Given the description of an element on the screen output the (x, y) to click on. 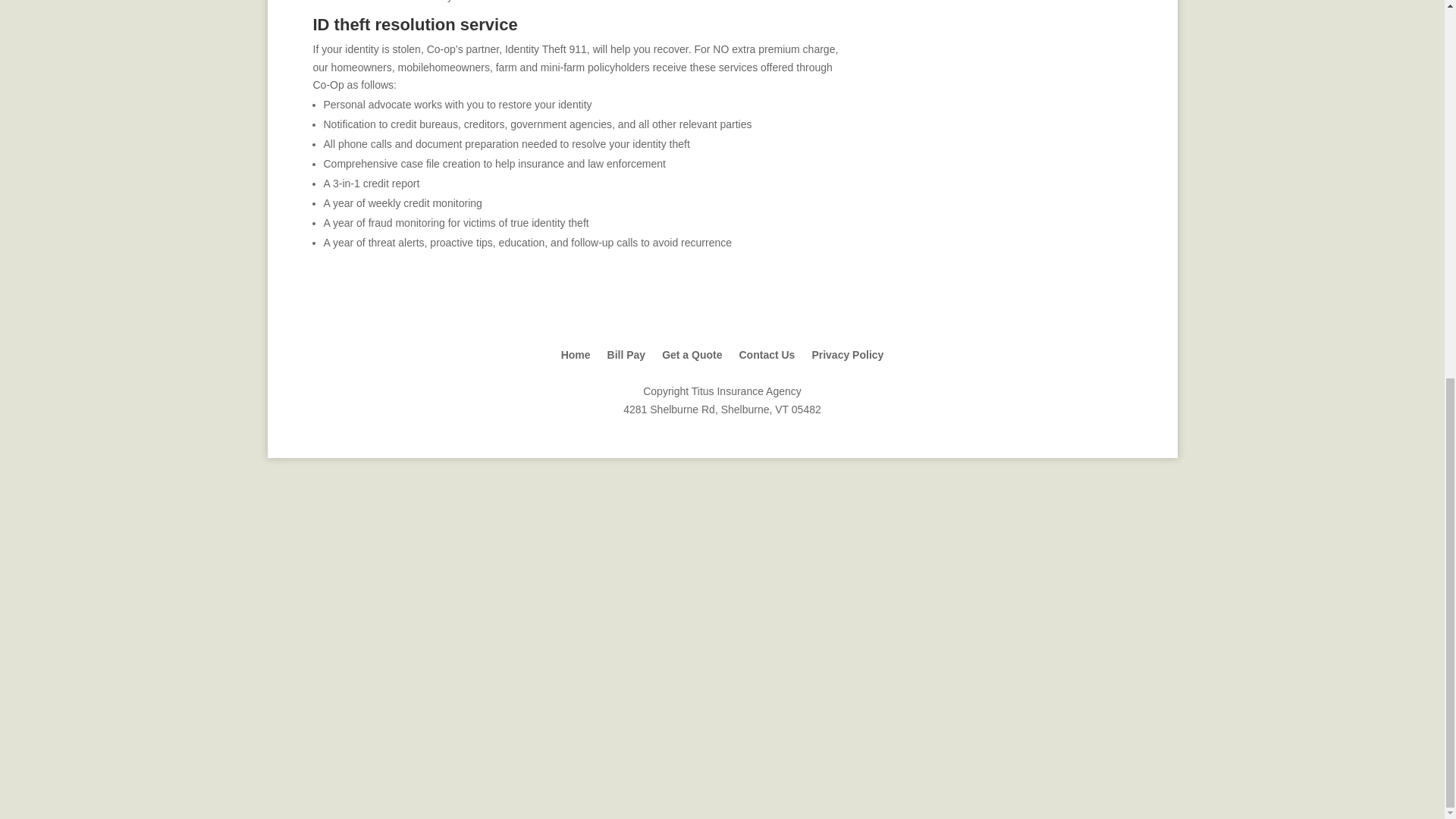
Bill Pay (626, 365)
Contact Us (766, 365)
Privacy Policy (846, 365)
Home (575, 365)
Get a Quote (692, 365)
